Given the description of an element on the screen output the (x, y) to click on. 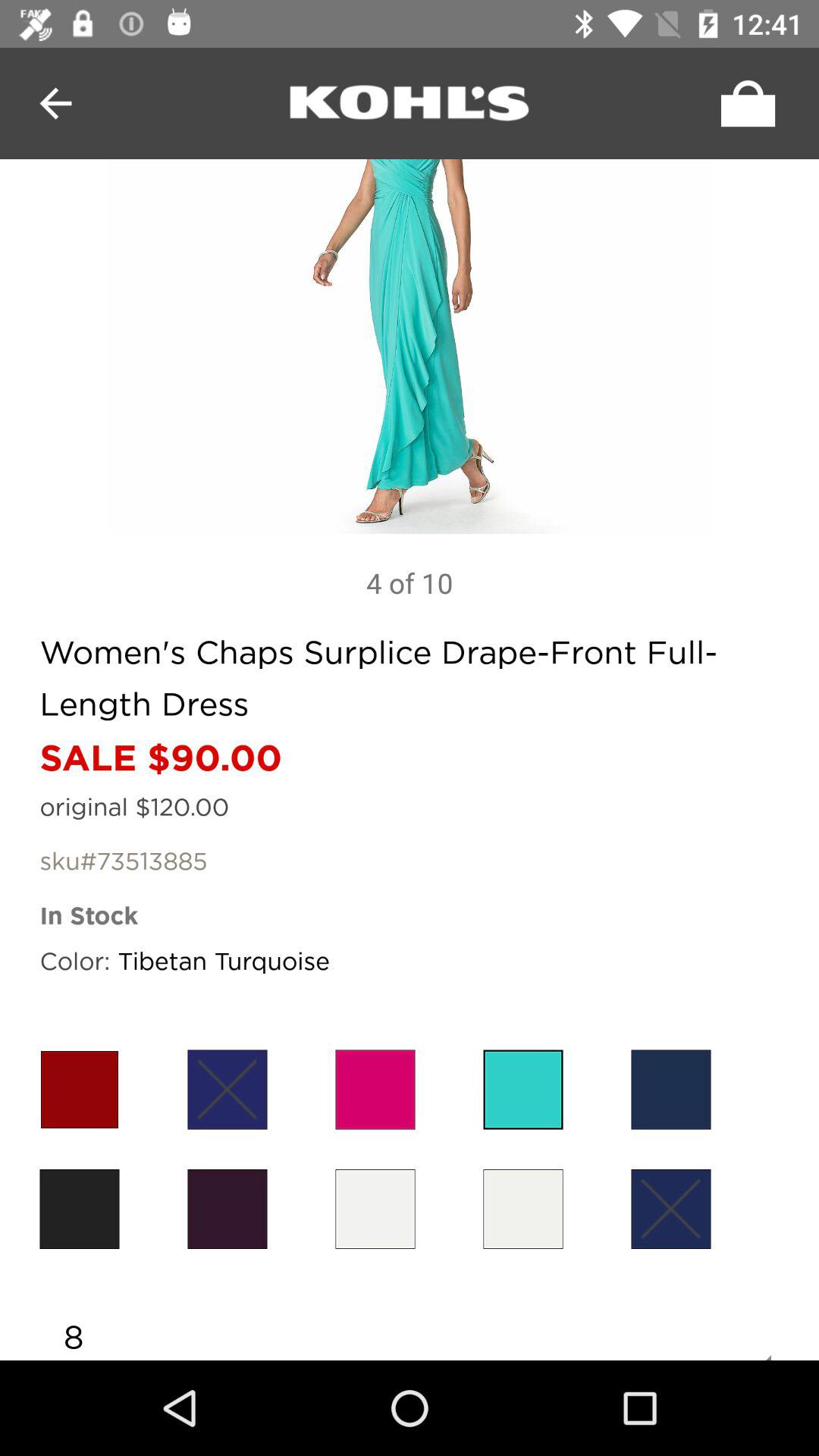
change color to blue (227, 1089)
